Given the description of an element on the screen output the (x, y) to click on. 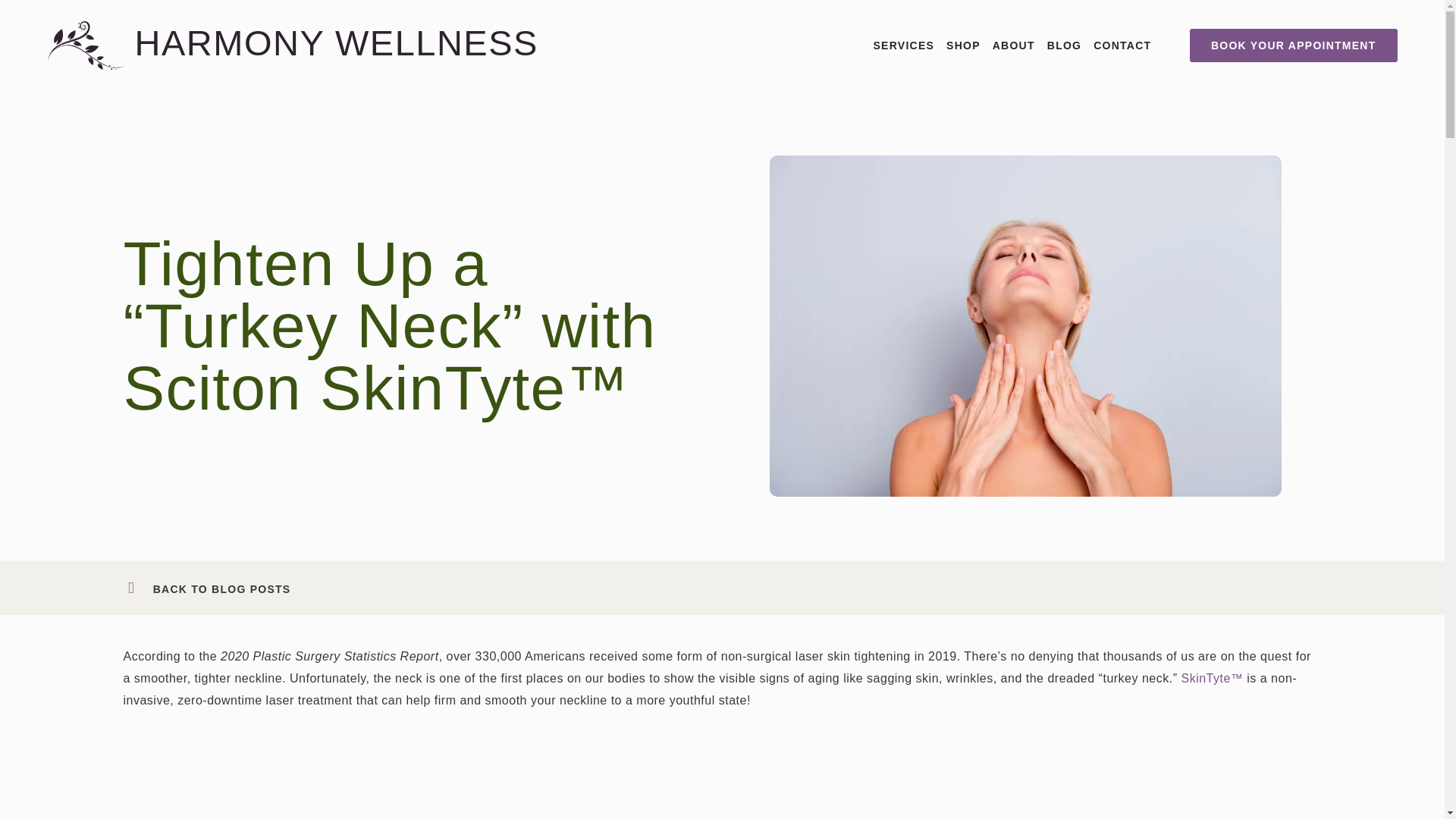
BACK TO BLOG POSTS (221, 589)
SERVICES (903, 45)
ABOUT (1013, 45)
BOOK YOUR APPOINTMENT (1293, 45)
HARMONY WELLNESS (336, 42)
SHOP (962, 45)
BLOG (1063, 45)
CONTACT (1122, 45)
